Given the description of an element on the screen output the (x, y) to click on. 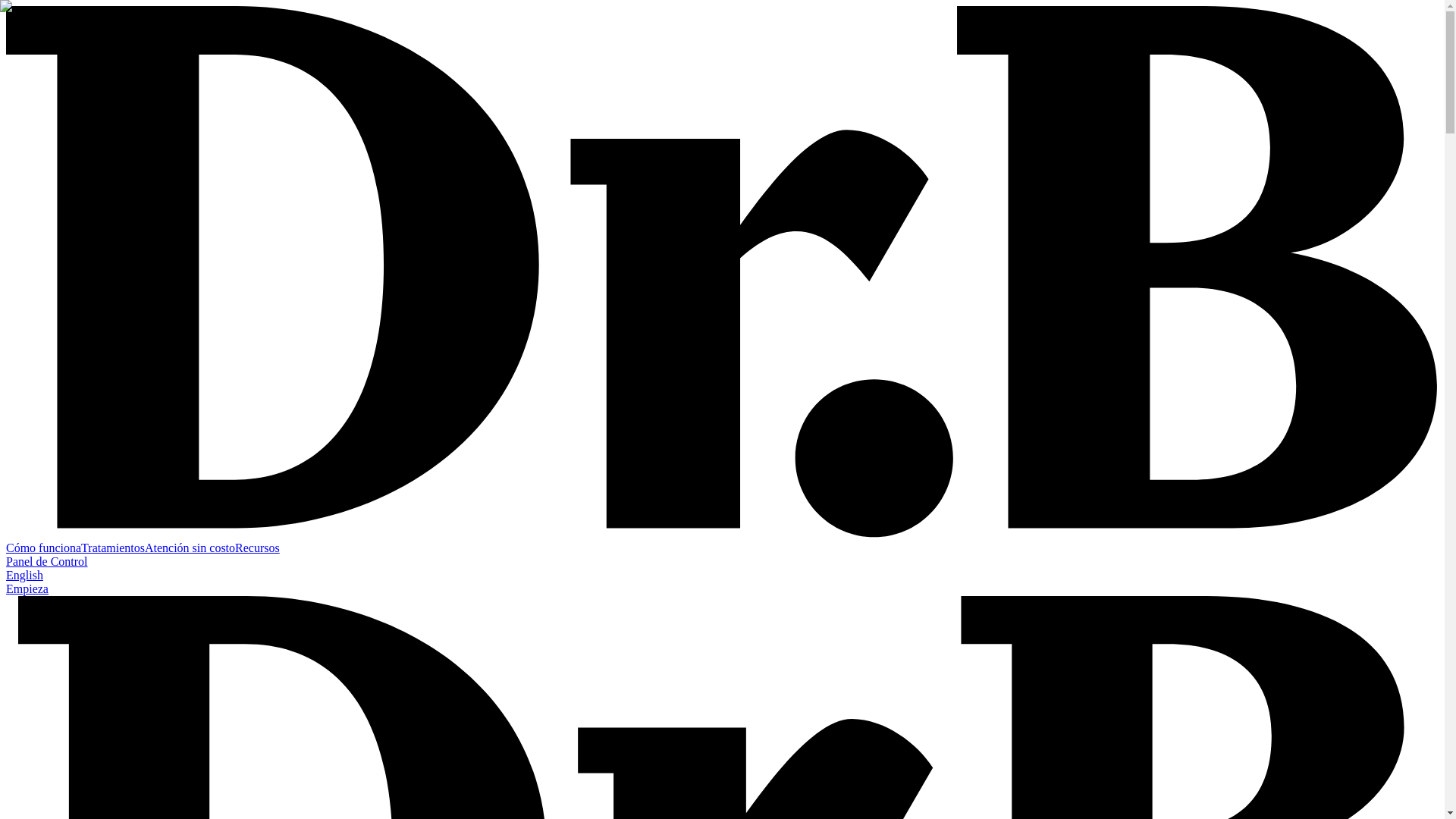
Empieza (26, 588)
English (24, 574)
Recursos (256, 547)
Tratamientos (112, 547)
Panel de Control (46, 561)
